Given the description of an element on the screen output the (x, y) to click on. 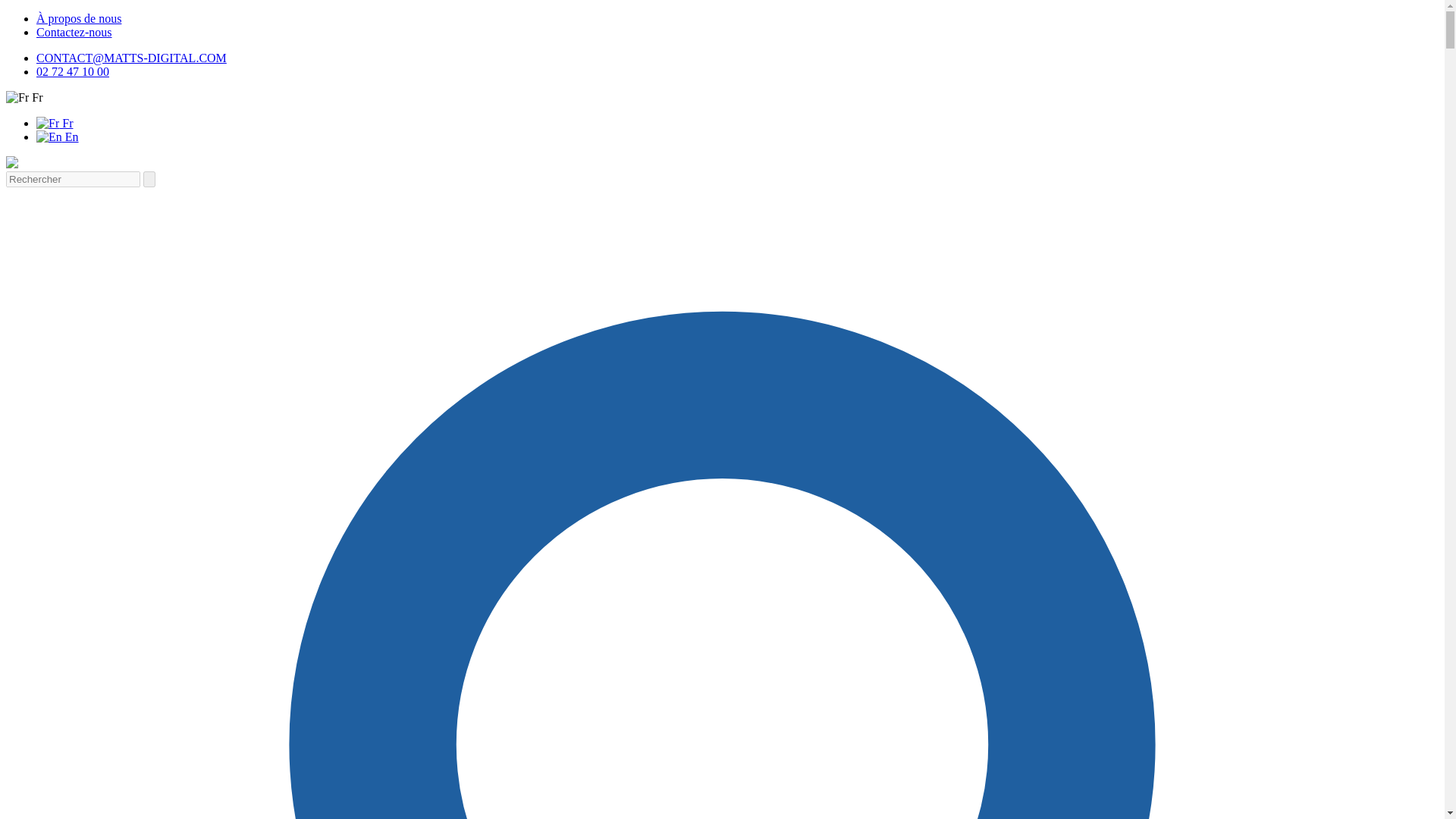
Contactez-nous (74, 31)
Utiliser le formulaire pour nous contacter (74, 31)
Fr (54, 123)
En (57, 136)
02 72 47 10 00 (72, 71)
Fr (23, 97)
